Given the description of an element on the screen output the (x, y) to click on. 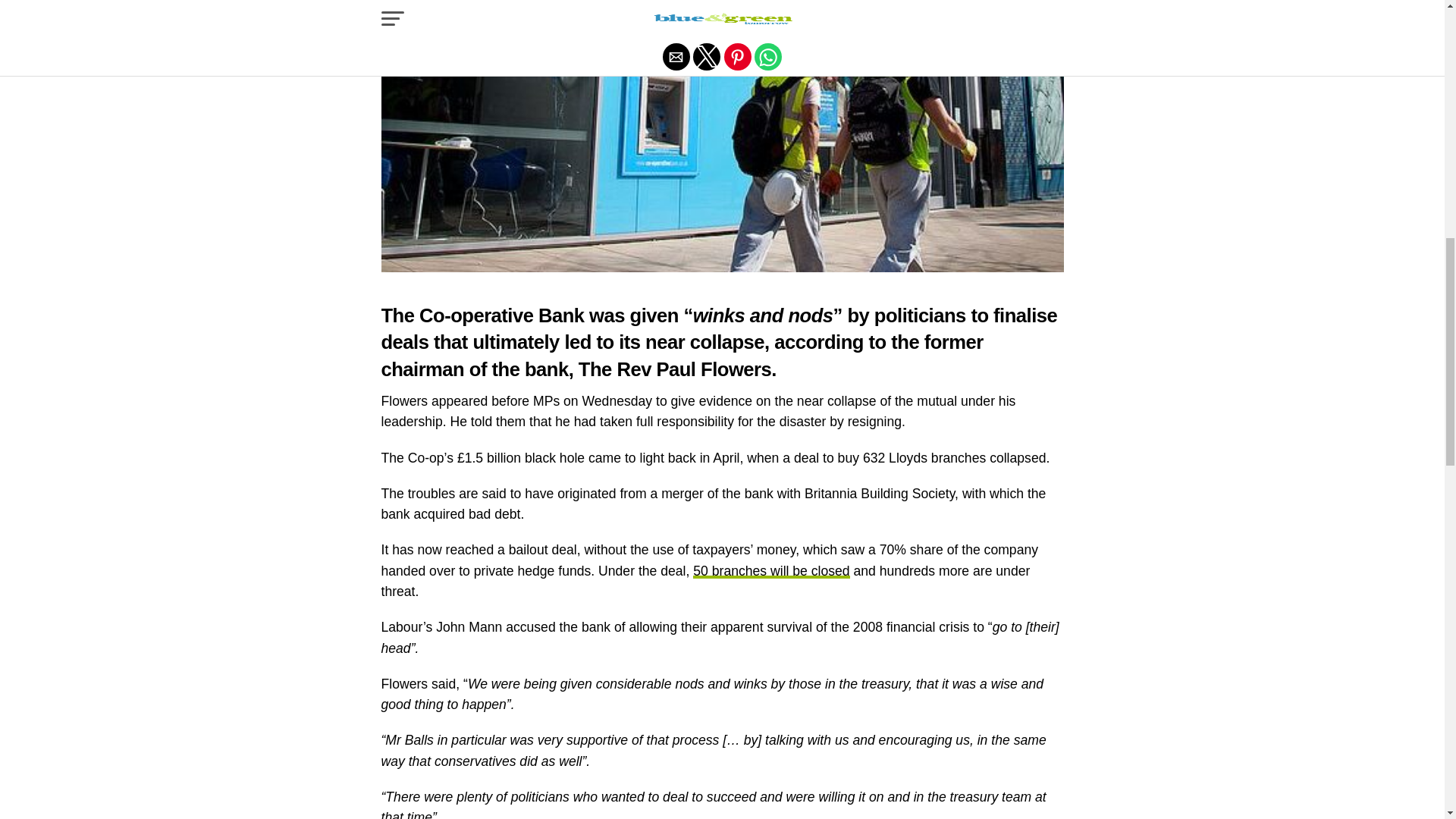
50 branches will be closed (770, 570)
